Given the description of an element on the screen output the (x, y) to click on. 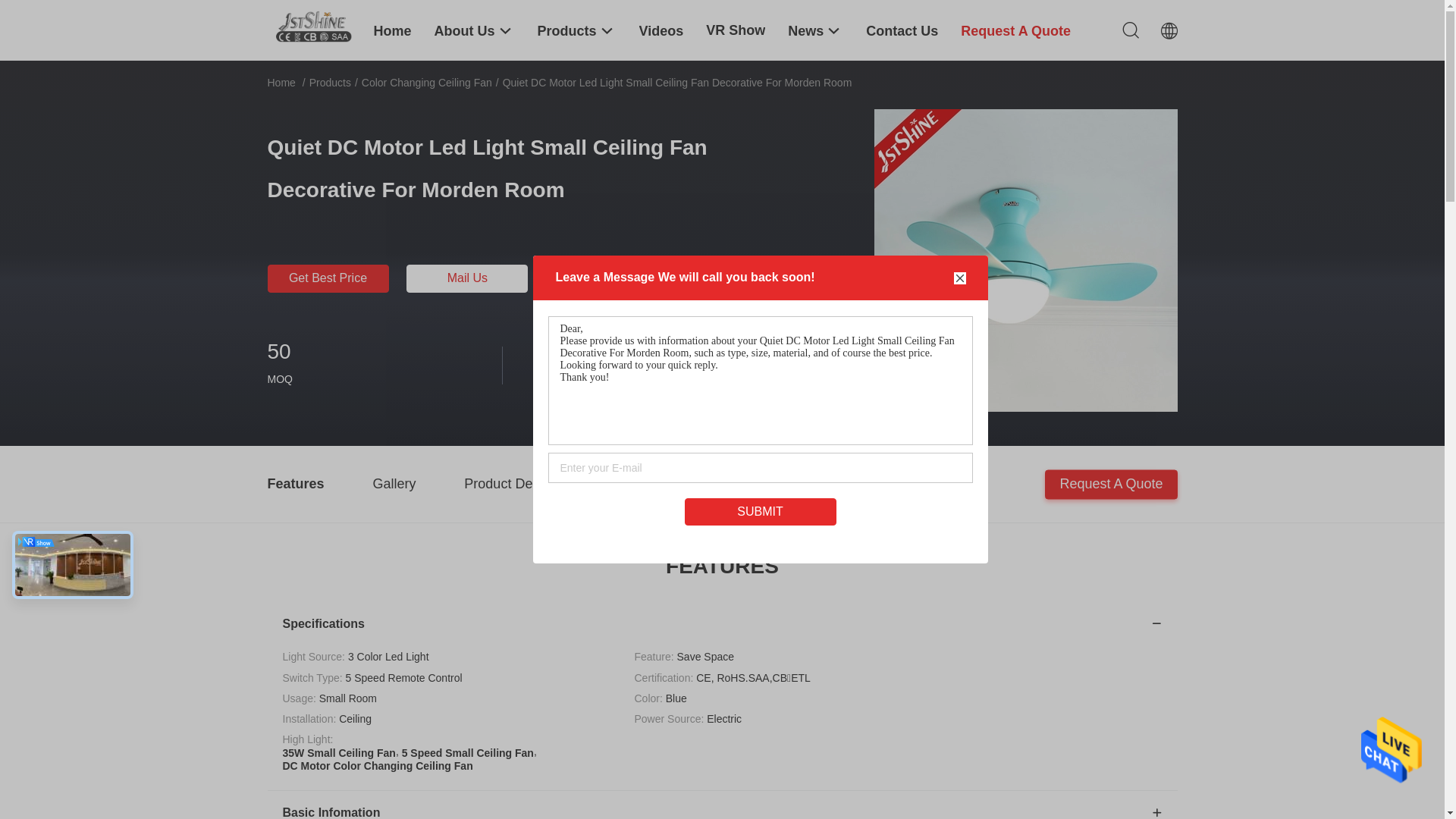
Contact Us Element type: text (902, 30)
Home Element type: text (392, 30)
Products Element type: text (576, 30)
Color Changing Ceiling Fan Element type: text (426, 82)
VR Show Element type: text (735, 30)
Videos Element type: text (661, 30)
News Element type: text (815, 30)
Mail Us Element type: text (466, 278)
Products Element type: text (330, 82)
Request A Quote Element type: text (1015, 30)
Get Best Price Element type: text (327, 278)
Request A Quote Element type: text (1110, 483)
Home Element type: text (280, 82)
About Us Element type: text (474, 30)
